Given the description of an element on the screen output the (x, y) to click on. 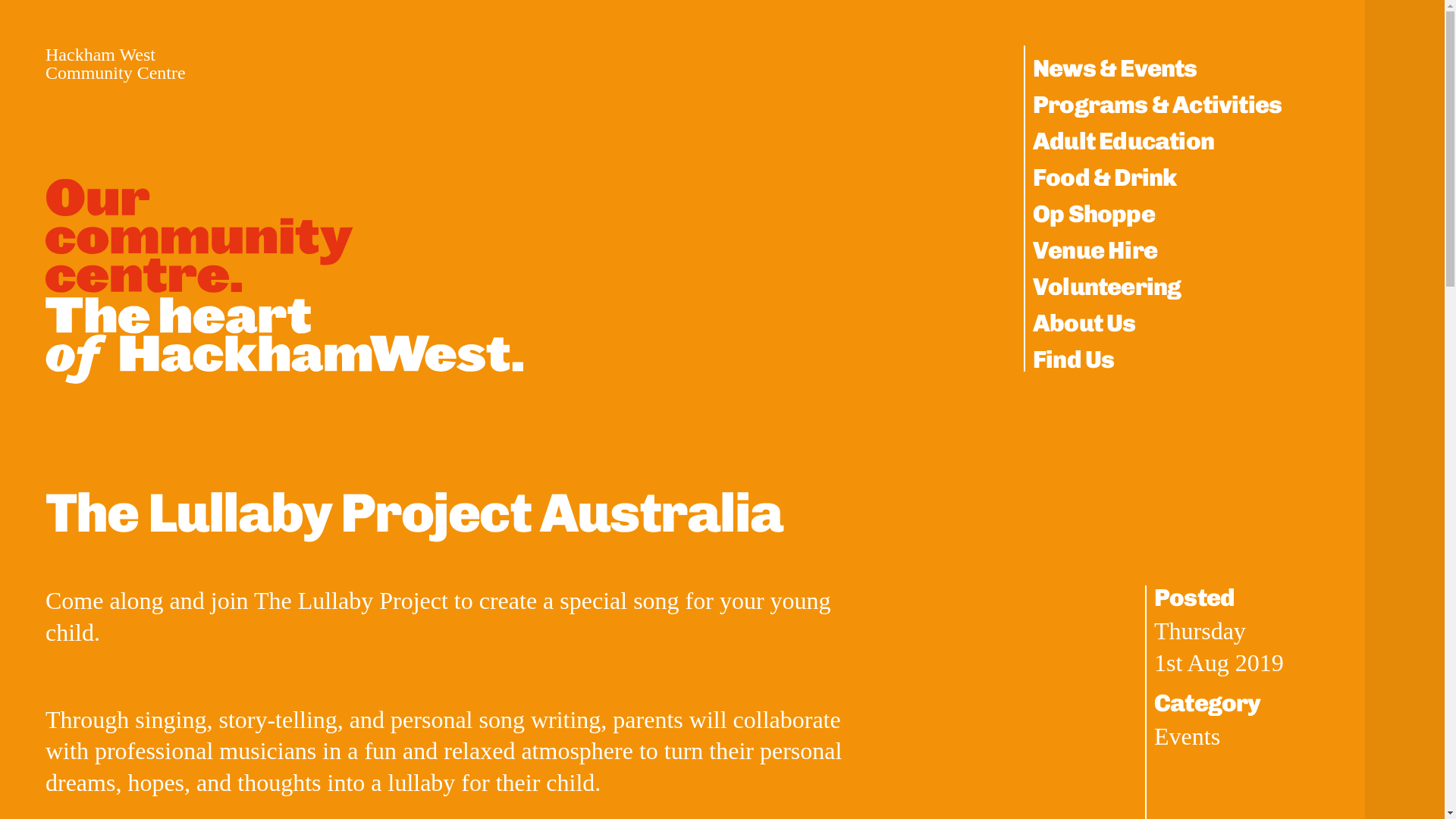
Volunteering Element type: text (1106, 286)
Adult Education Element type: text (1123, 140)
About Us Element type: text (1083, 322)
Op Shoppe Element type: text (1093, 213)
Venue Hire Element type: text (1094, 249)
Hackham West
Community Centre Element type: text (115, 63)
Our community centre. The heart of Hackham West. Element type: text (284, 275)
Programs & Activities Element type: text (1156, 104)
Events Element type: text (1187, 735)
Food & Drink Element type: text (1104, 177)
News & Events Element type: text (1114, 67)
Find Us Element type: text (1072, 359)
